Given the description of an element on the screen output the (x, y) to click on. 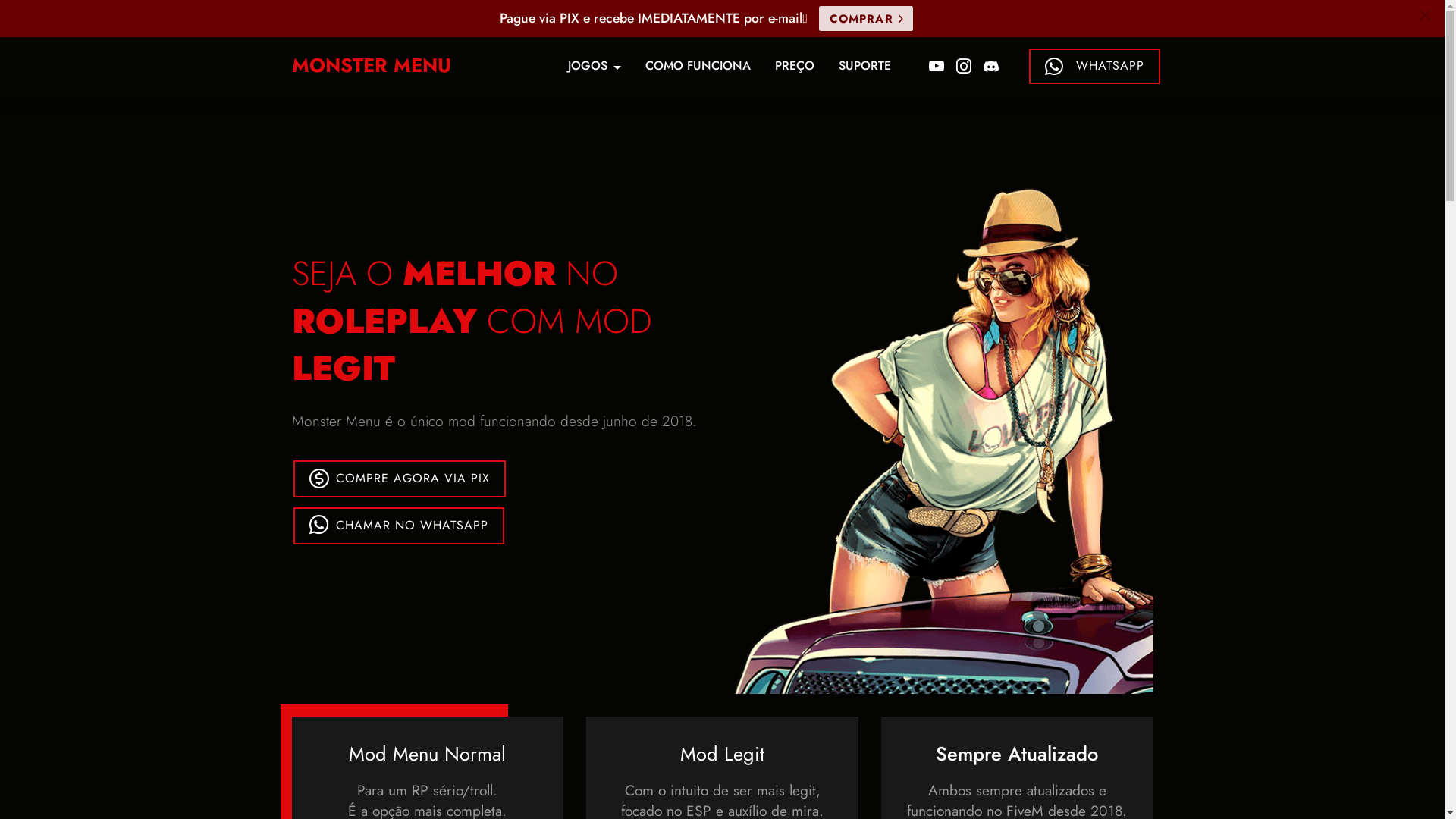
COMPRAR Element type: text (866, 18)
COMO FUNCIONA Element type: text (697, 66)
WHATSAPP Element type: text (1094, 66)
JOGOS Element type: text (593, 66)
COMPRE AGORA VIA PIX Element type: text (399, 478)
SUPORTE Element type: text (864, 66)
Mod Legit Element type: text (722, 754)
CHAMAR NO WHATSAPP Element type: text (398, 525)
Mod Menu Normal Element type: text (426, 754)
MONSTER MENU Element type: text (394, 65)
